Given the description of an element on the screen output the (x, y) to click on. 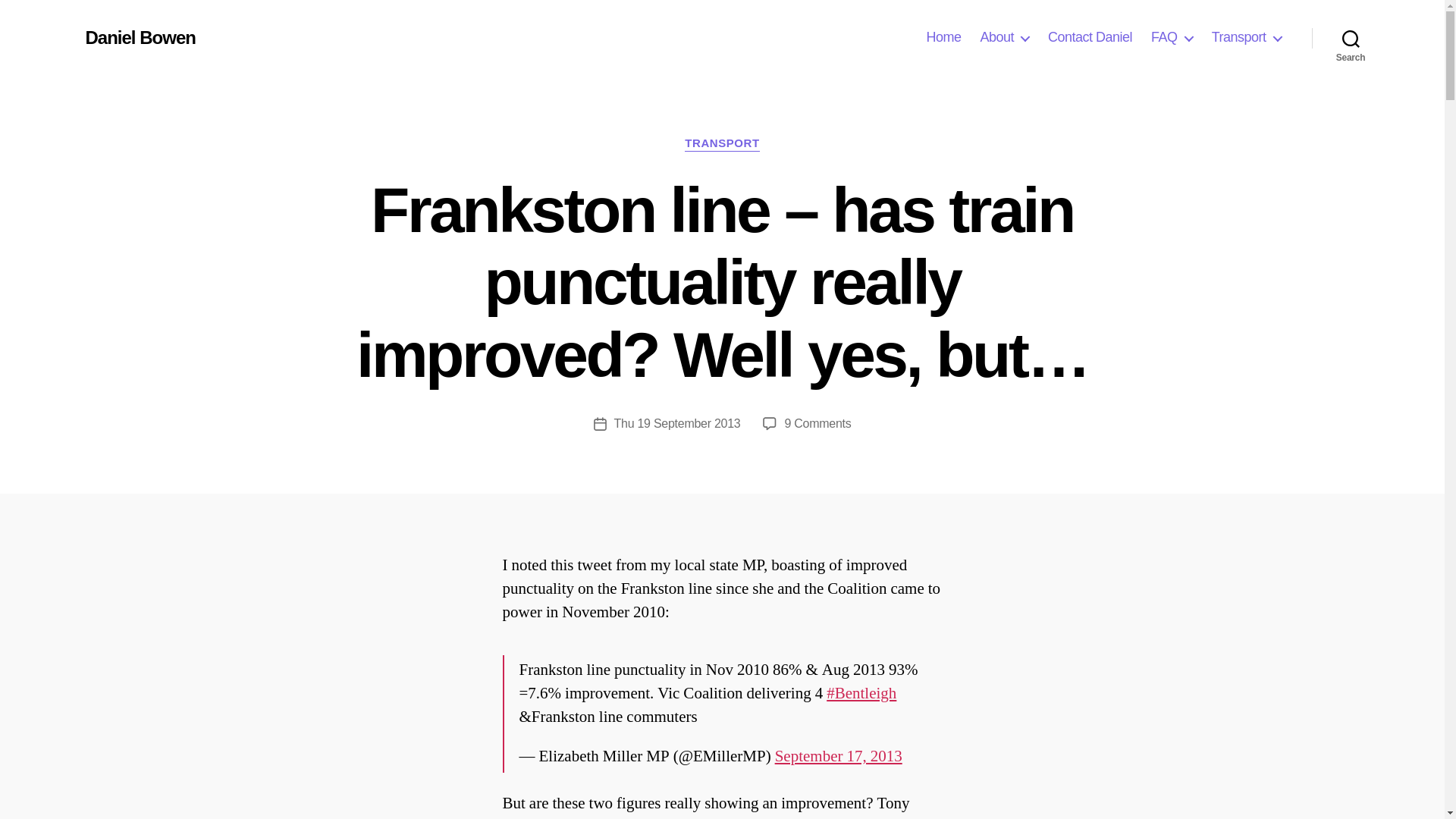
Search (1350, 37)
Transport (1246, 37)
Daniel Bowen (139, 37)
Contact Daniel (1090, 37)
FAQ (1171, 37)
Home (943, 37)
About (1004, 37)
Thu 19 September 2013 (677, 422)
TRANSPORT (721, 143)
